Given the description of an element on the screen output the (x, y) to click on. 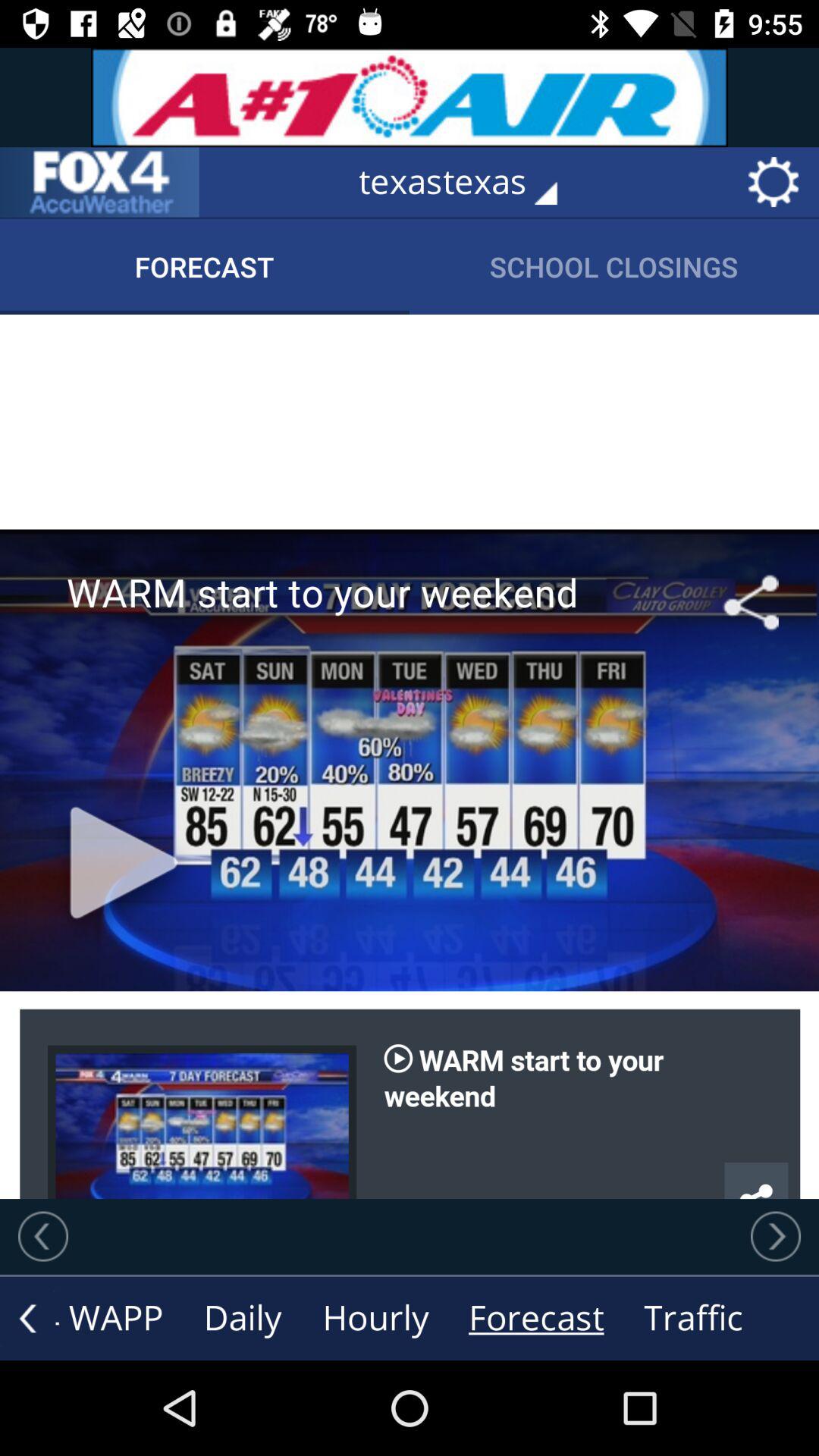
go back (27, 1318)
